Given the description of an element on the screen output the (x, y) to click on. 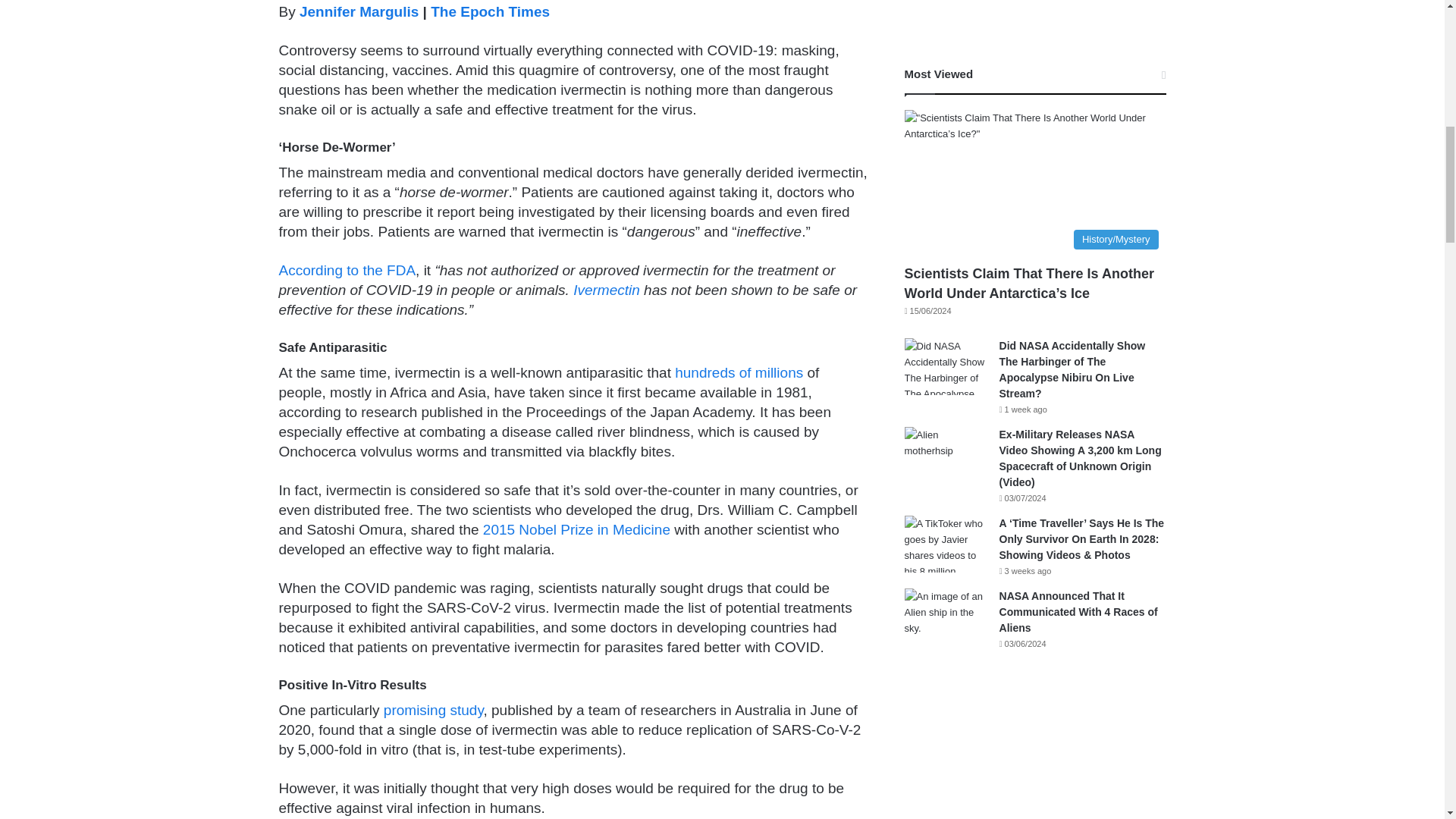
Ivermectin (606, 289)
Jennifer Margulis (359, 11)
hundreds of millions (739, 372)
2015 Nobel Prize in Medicine (576, 529)
According to the FDA (347, 270)
The Epoch Times (490, 11)
promising study (433, 709)
